Given the description of an element on the screen output the (x, y) to click on. 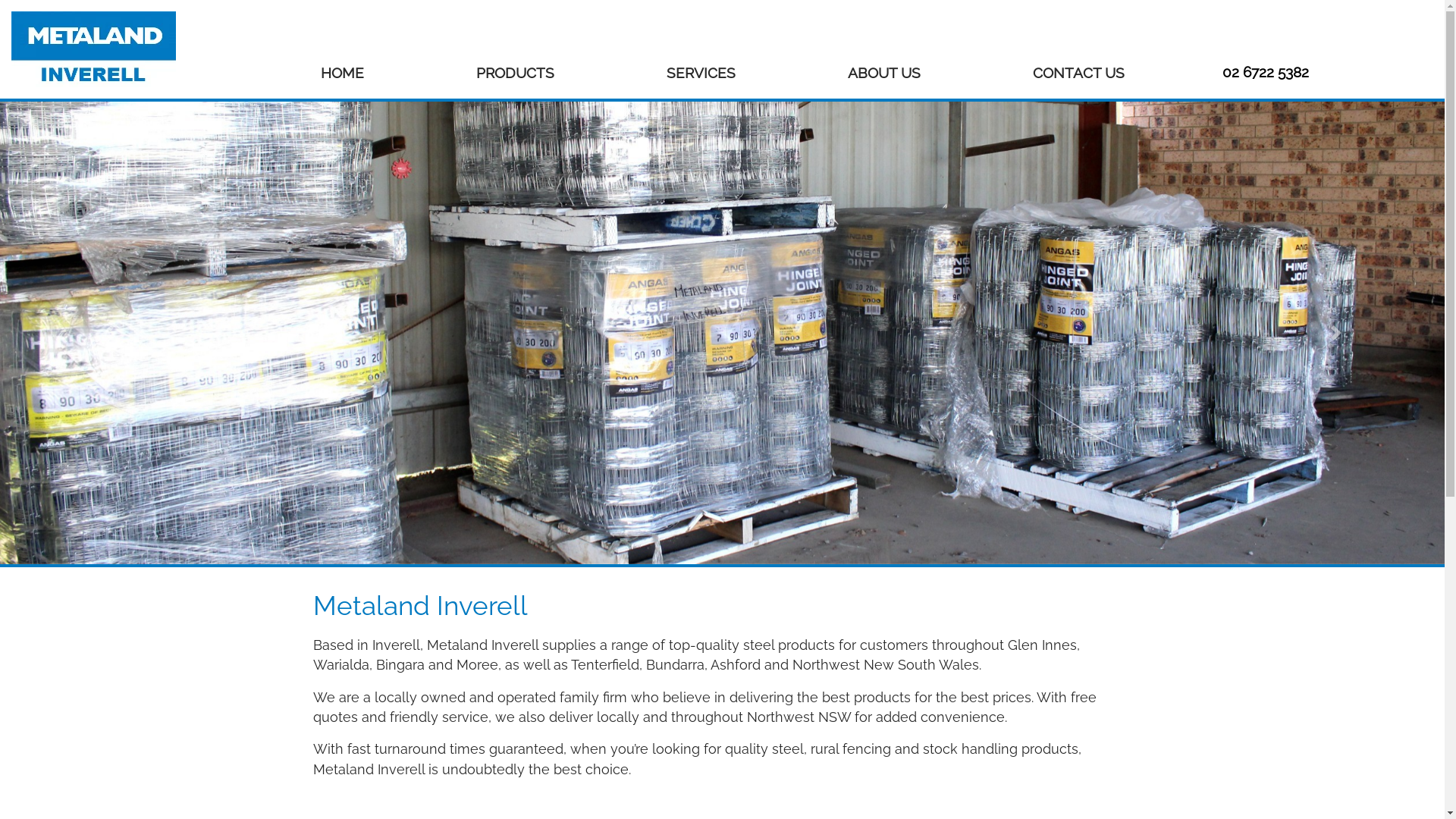
Next Element type: text (1335, 332)
SERVICES Element type: text (699, 72)
02 6722 5382 Element type: text (1265, 71)
PRODUCTS Element type: text (515, 72)
HOME Element type: text (341, 72)
Previous Element type: text (108, 332)
CONTACT US Element type: text (1078, 72)
ABOUT US Element type: text (883, 72)
